Given the description of an element on the screen output the (x, y) to click on. 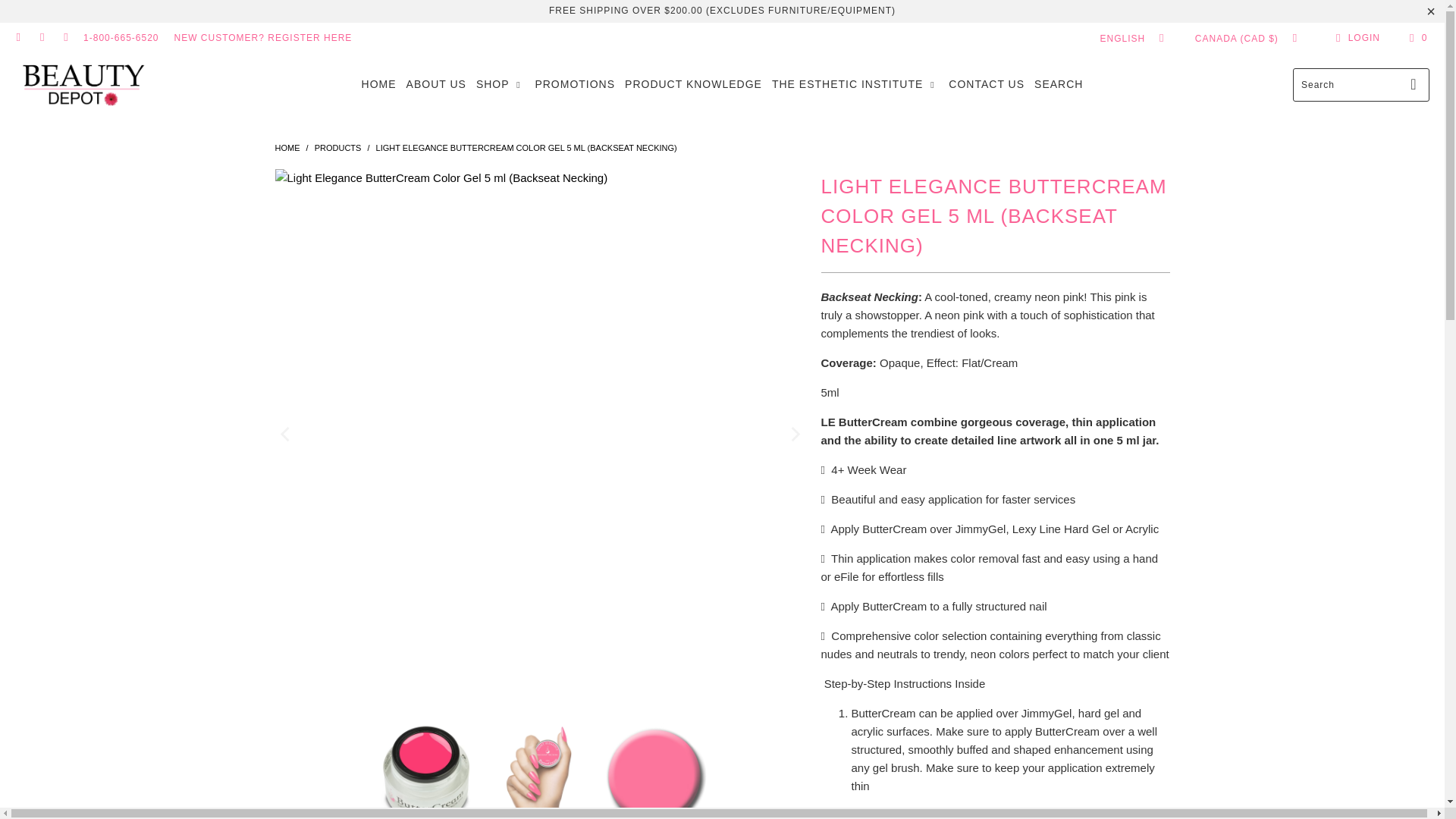
Beauty Depot (287, 147)
Products (337, 147)
Email Beauty Depot (65, 37)
Beauty Depot (82, 84)
Beauty Depot on Instagram (41, 37)
Beauty Depot on Facebook (17, 37)
My Account  (1355, 37)
